Given the description of an element on the screen output the (x, y) to click on. 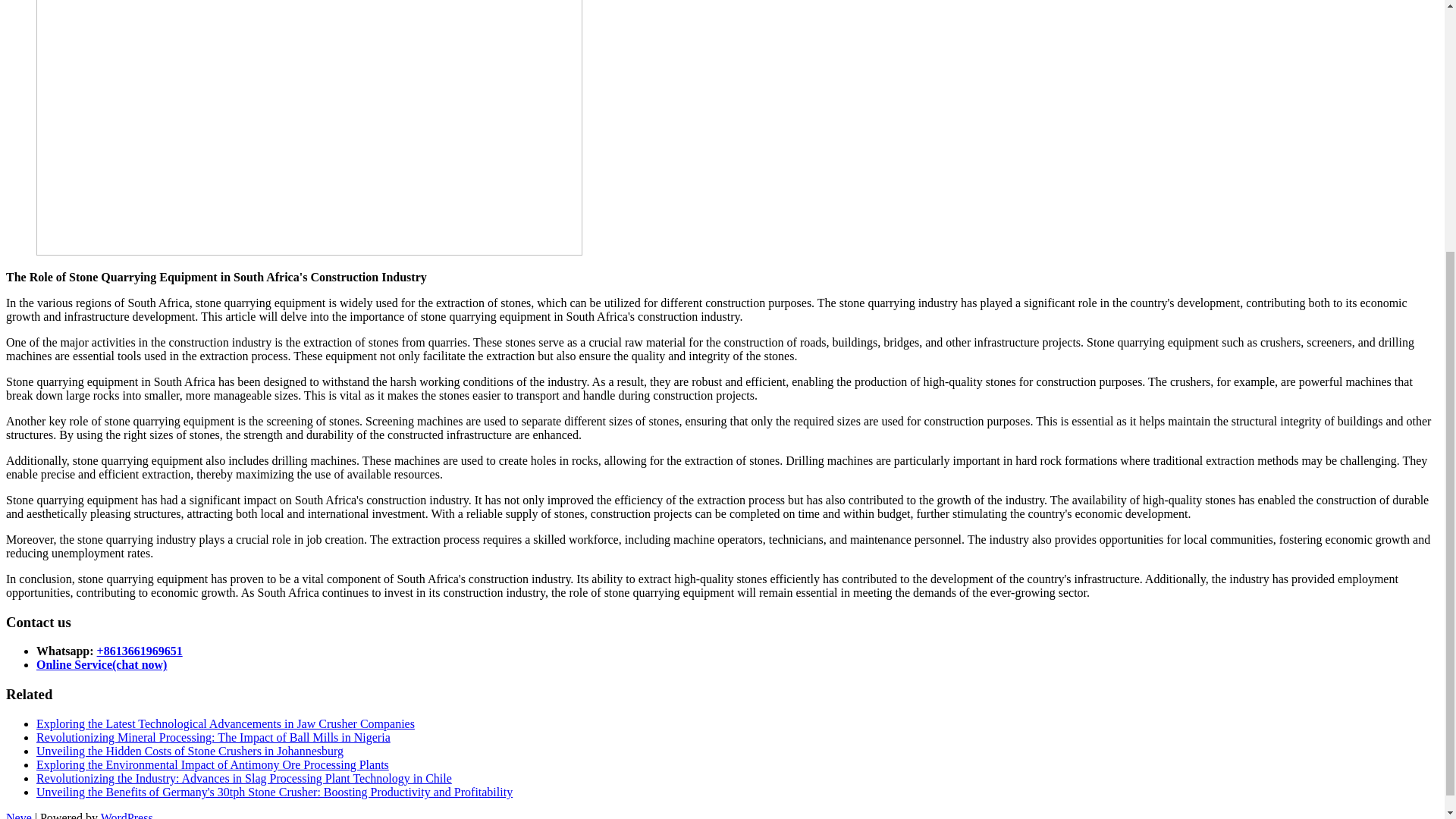
Unveiling the Hidden Costs of Stone Crushers in Johannesburg (189, 750)
